Given the description of an element on the screen output the (x, y) to click on. 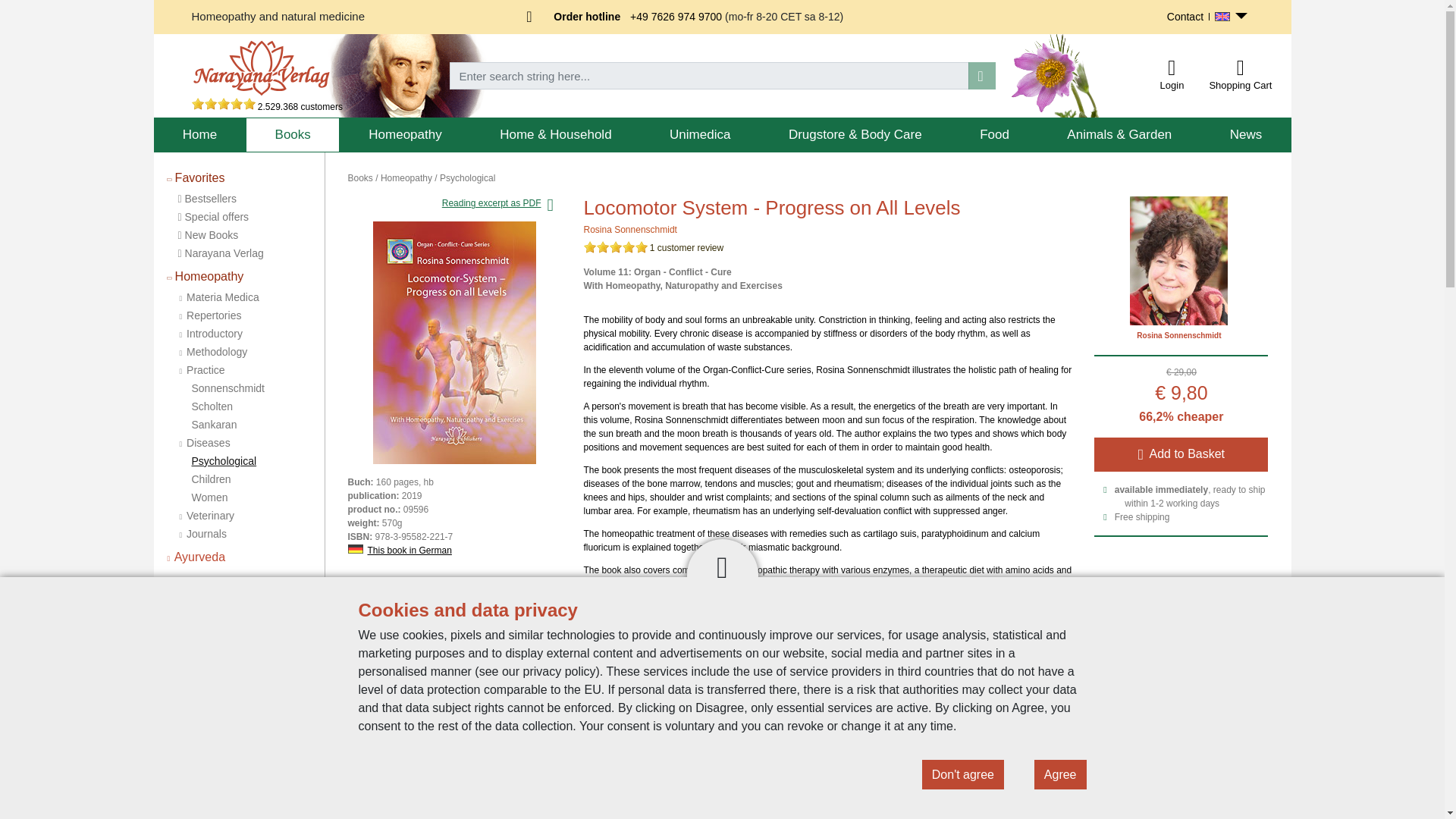
Rosina Sonnenschmidt (630, 229)
Shopping Cart (1240, 67)
5 out of 5 Stars (615, 246)
Home (199, 134)
2.529.368 customers (266, 106)
Contact (1184, 17)
Books (292, 134)
